Given the description of an element on the screen output the (x, y) to click on. 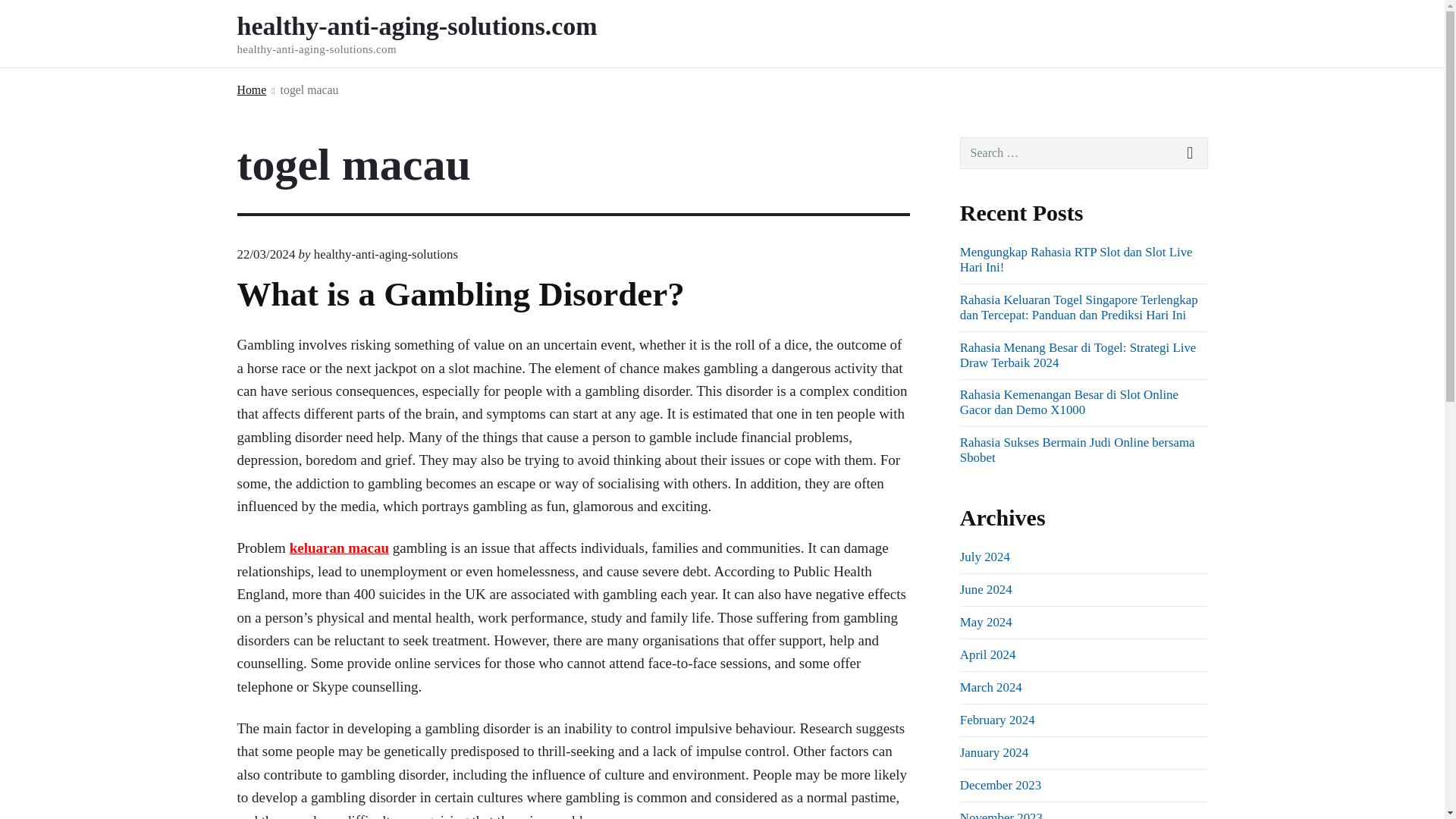
February 2024 (997, 719)
healthy-anti-aging-solutions (386, 254)
SEARCH (1190, 152)
keluaran macau (338, 547)
March 2024 (990, 687)
June 2024 (985, 589)
Home (250, 89)
April 2024 (987, 654)
December 2023 (1000, 785)
Rahasia Sukses Bermain Judi Online bersama Sbobet (1077, 449)
May 2024 (985, 622)
January 2024 (993, 752)
Mengungkap Rahasia RTP Slot dan Slot Live Hari Ini! (1075, 259)
